Given the description of an element on the screen output the (x, y) to click on. 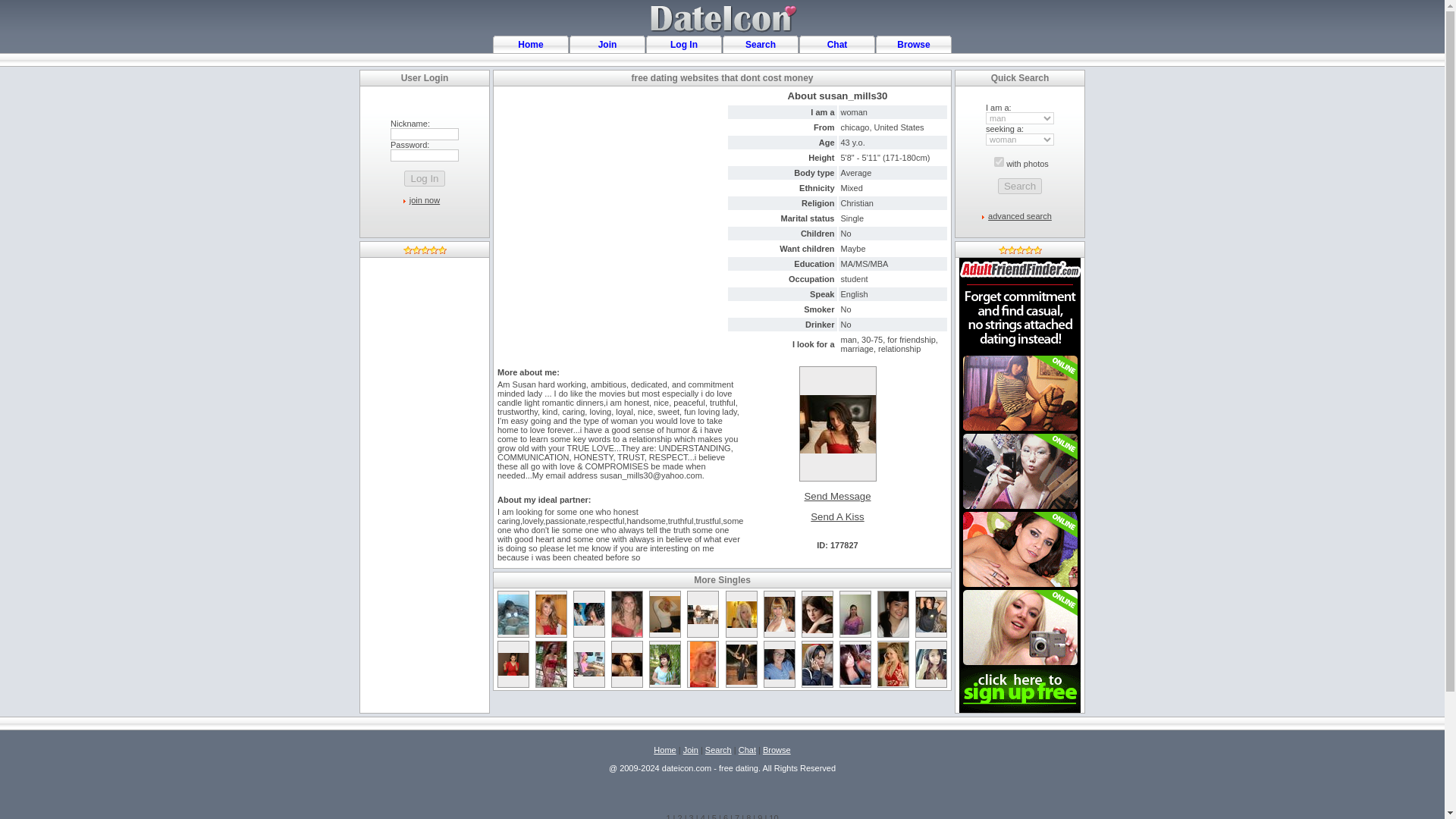
Join (607, 44)
Browse (913, 44)
on (999, 162)
Send A Kiss (836, 516)
Log In (424, 178)
advanced search (1019, 215)
Send Message (836, 496)
Search (1019, 186)
Chat (837, 44)
Search (1019, 186)
Log In (424, 178)
Search (760, 44)
Join (690, 748)
Log In (683, 44)
Home (530, 44)
